Given the description of an element on the screen output the (x, y) to click on. 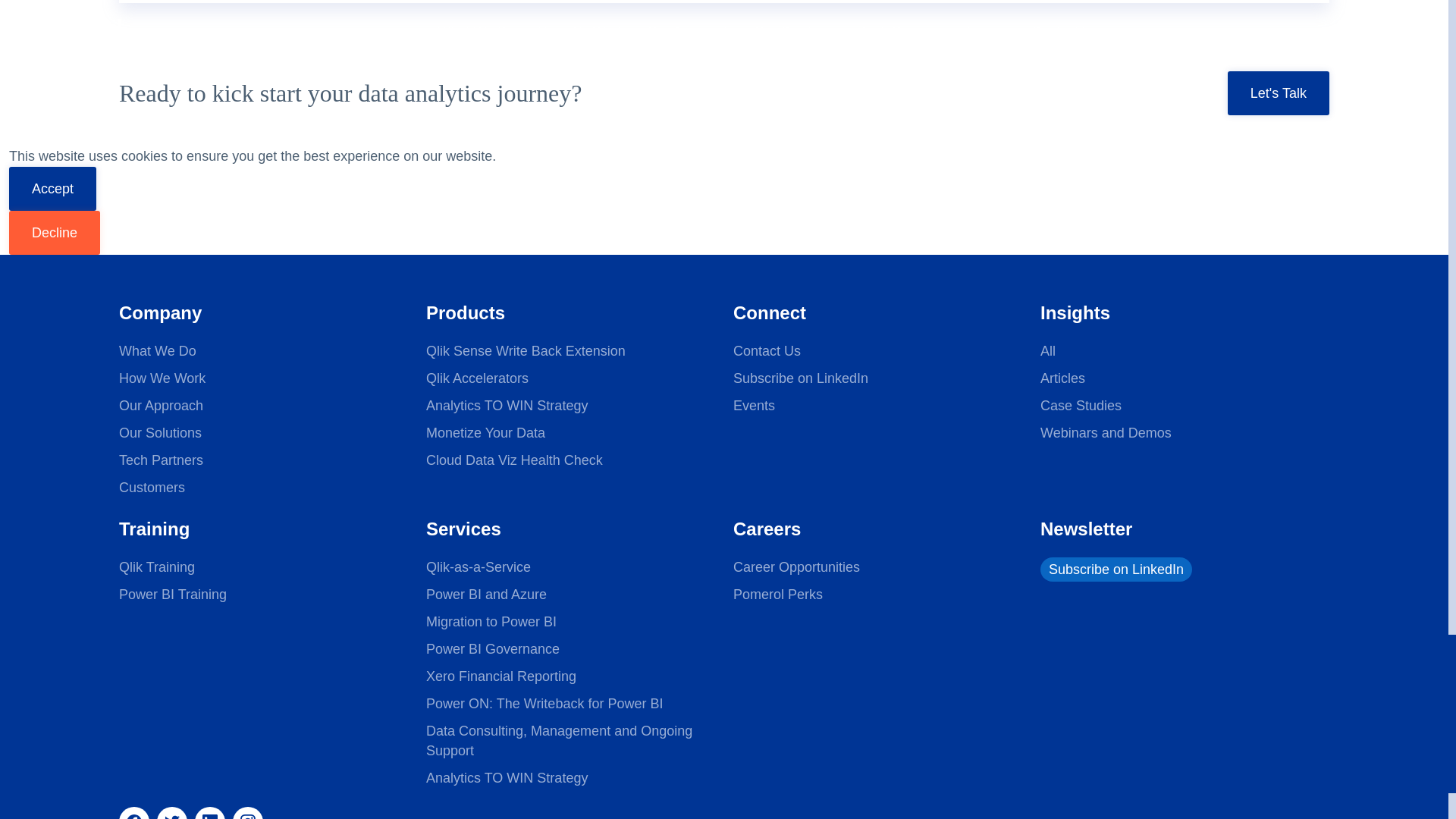
LinkedIn (210, 812)
Facebook (134, 812)
Instagram (247, 812)
Twitter (172, 812)
